Given the description of an element on the screen output the (x, y) to click on. 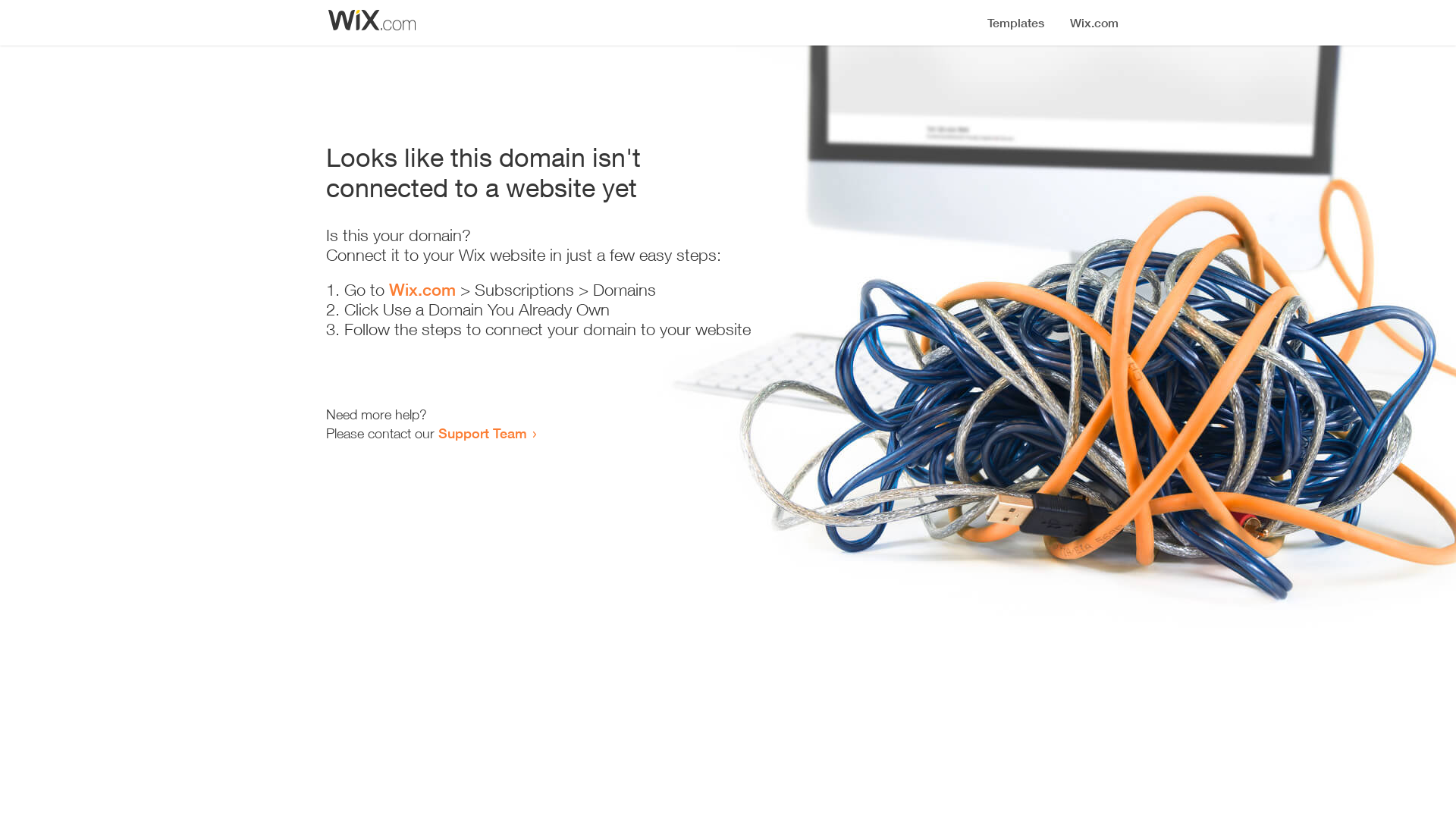
Support Team Element type: text (482, 432)
Wix.com Element type: text (422, 289)
